Given the description of an element on the screen output the (x, y) to click on. 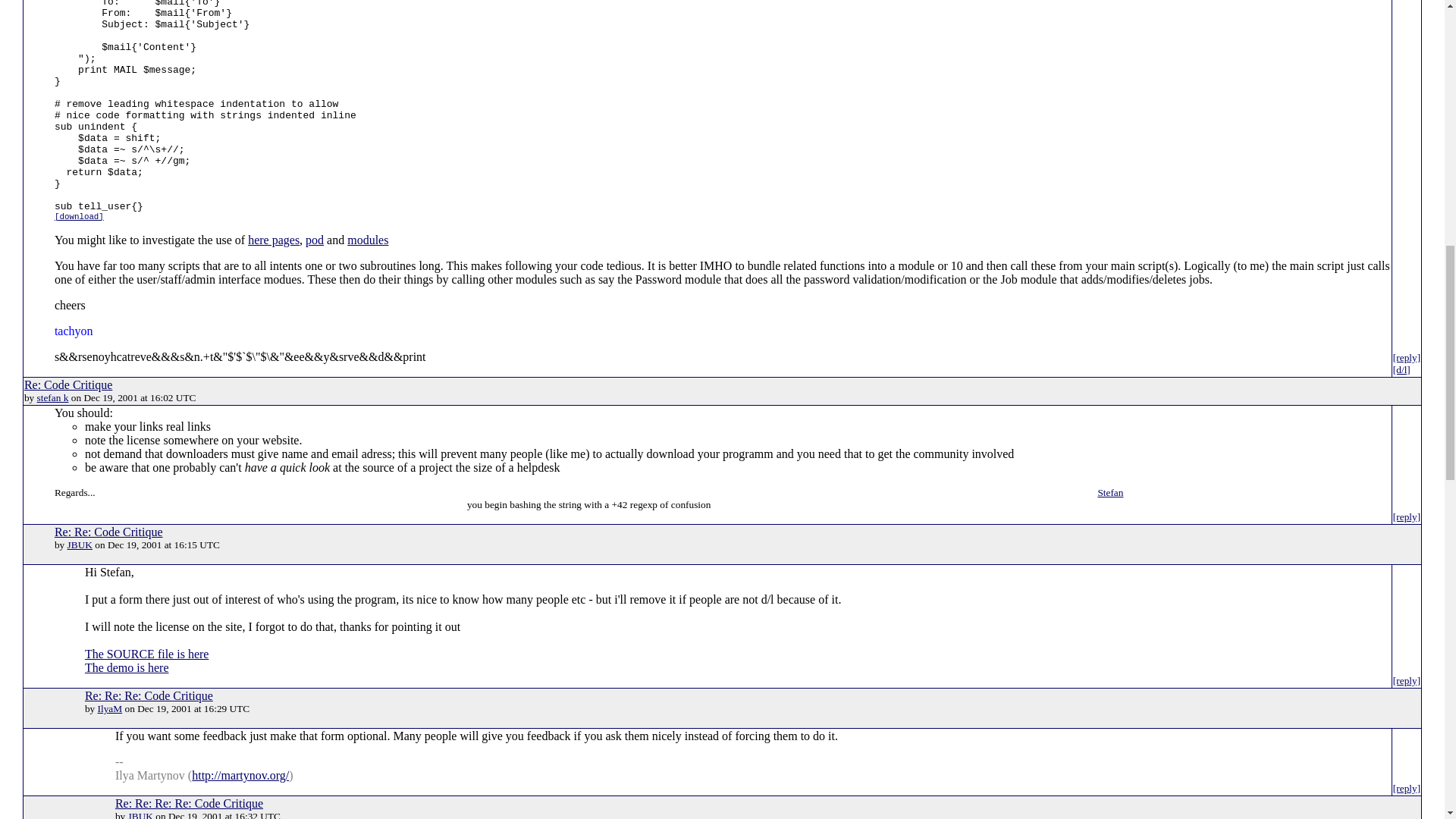
pod (314, 239)
here pages (273, 239)
modules (367, 239)
